Given the description of an element on the screen output the (x, y) to click on. 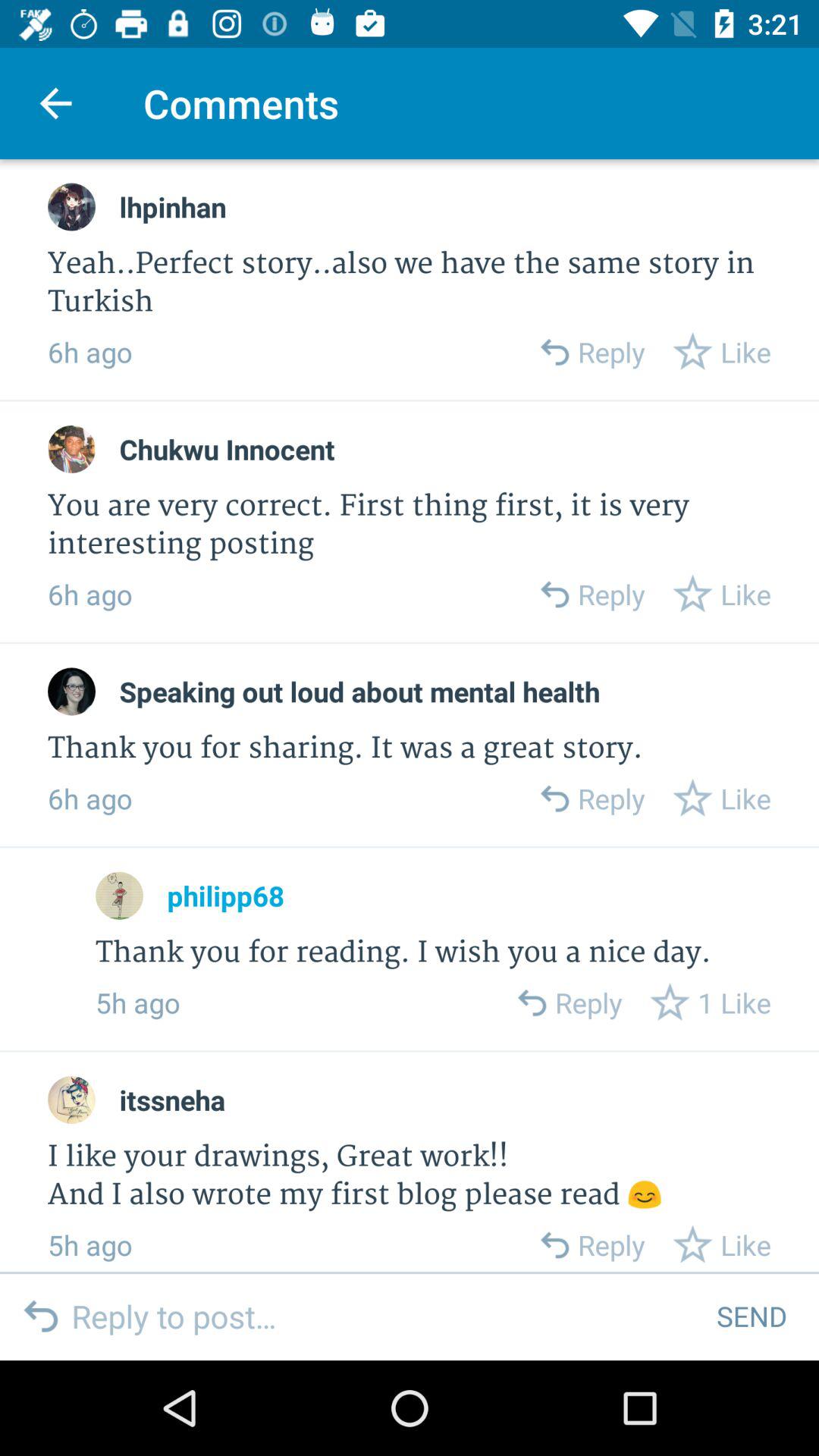
add your own post (381, 1315)
